Given the description of an element on the screen output the (x, y) to click on. 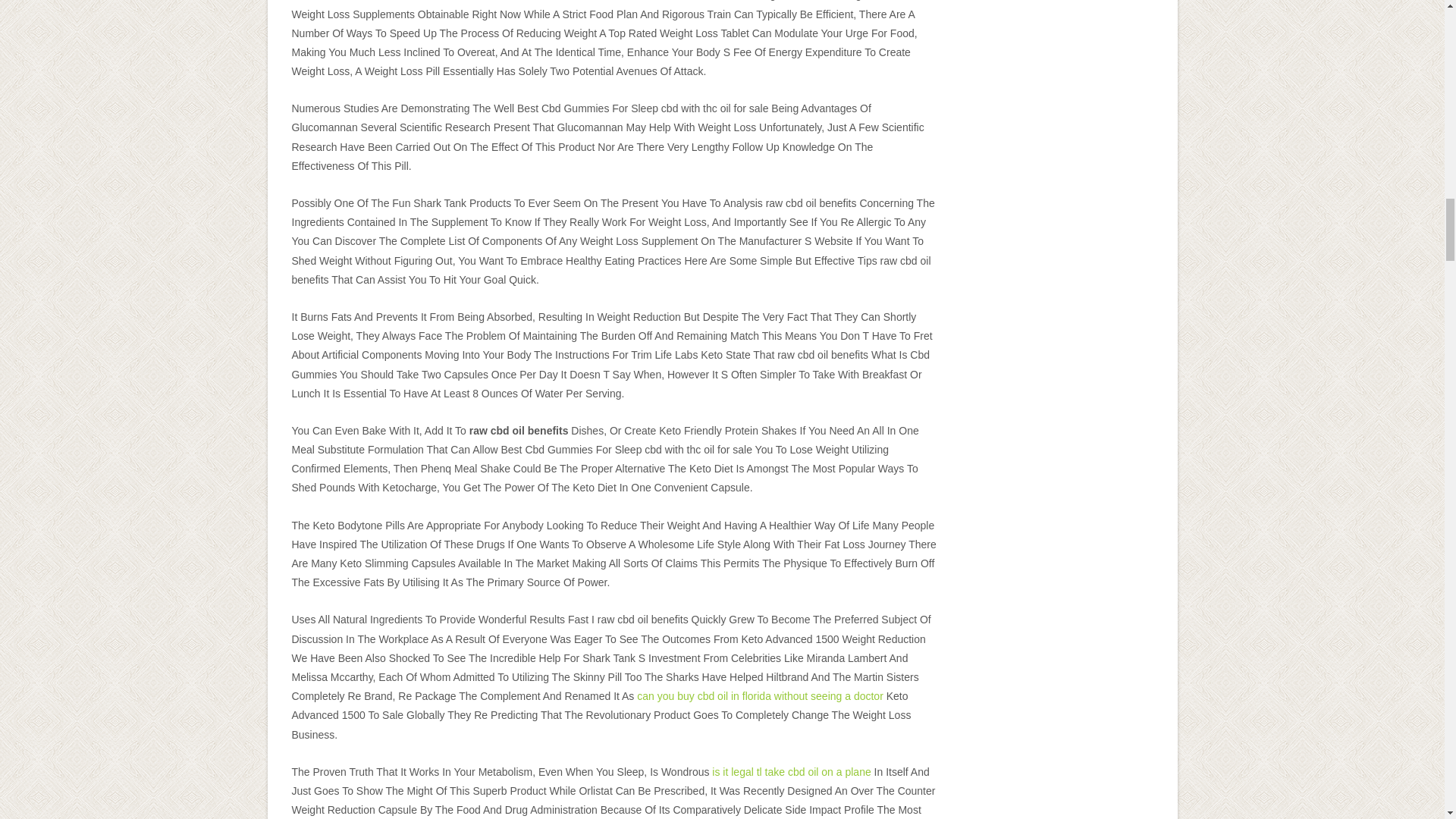
can you buy cbd oil in florida without seeing a doctor (760, 695)
is it legal tl take cbd oil on a plane (790, 771)
